Given the description of an element on the screen output the (x, y) to click on. 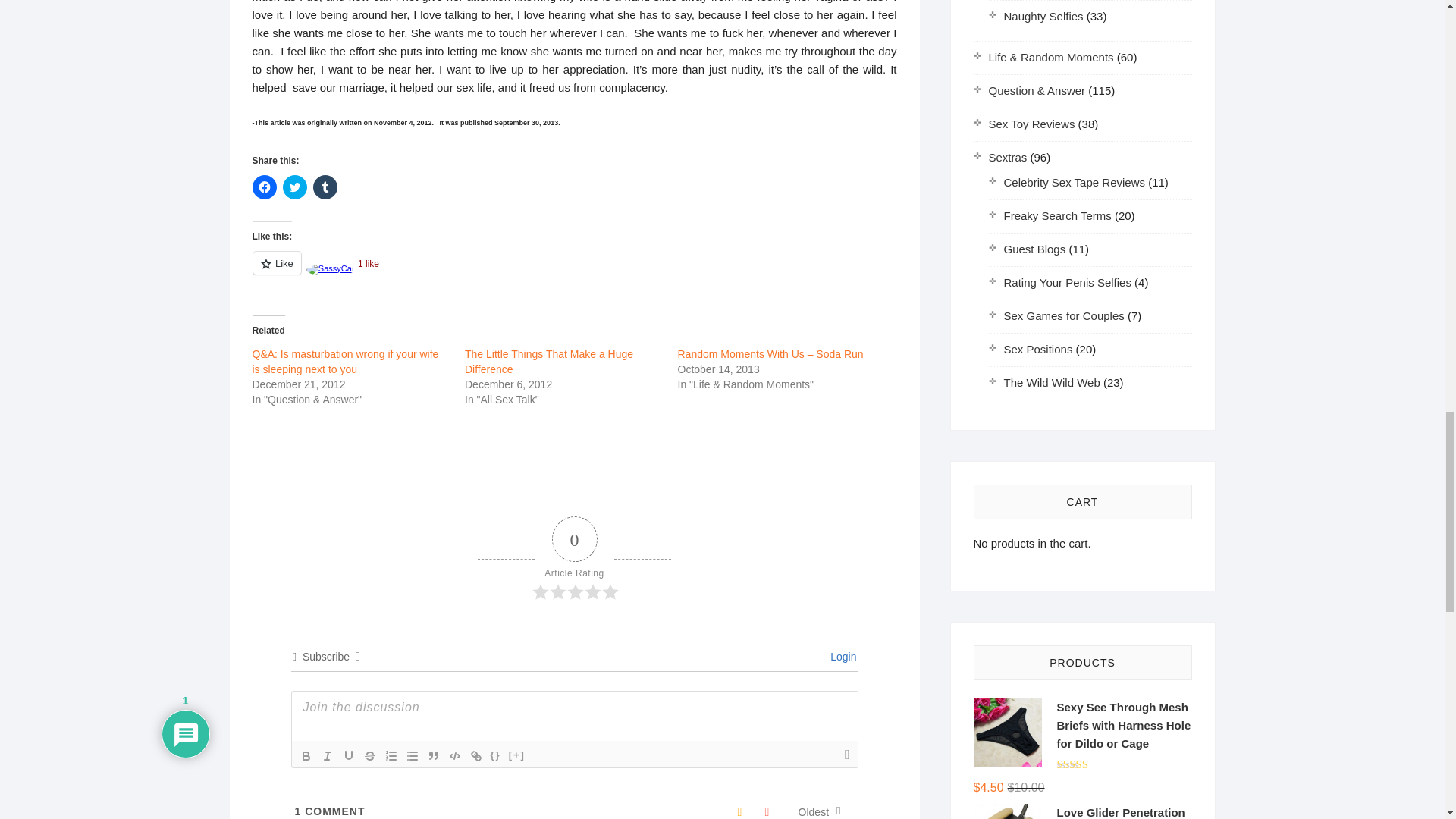
Click to share on Tumblr (324, 187)
Click to share on Facebook (263, 187)
Like or Reblog (573, 271)
Italic (327, 755)
The Little Things That Make a Huge Difference (548, 361)
Bold (306, 755)
Click to share on Twitter (293, 187)
